Given the description of an element on the screen output the (x, y) to click on. 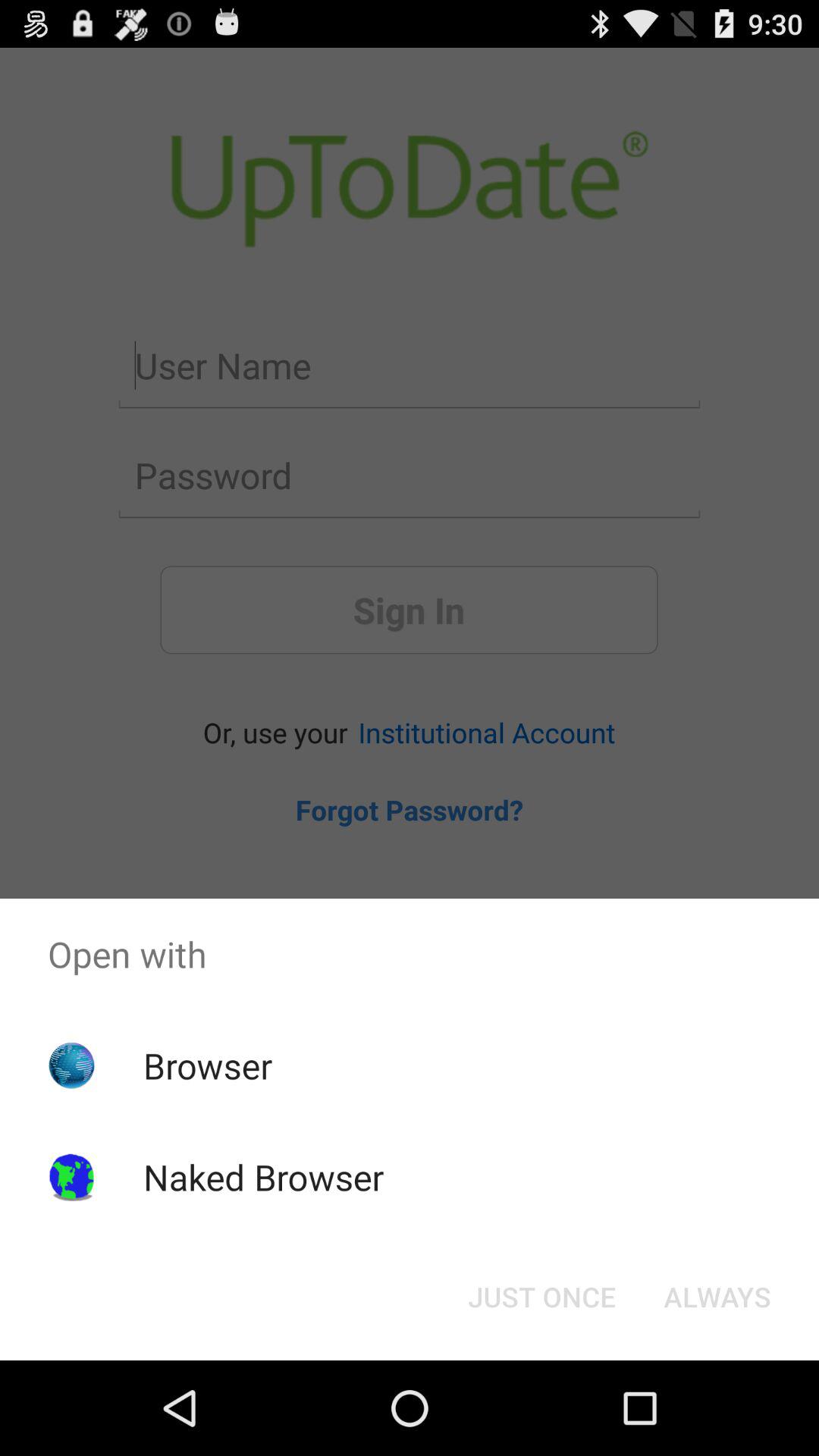
turn off always button (717, 1296)
